Given the description of an element on the screen output the (x, y) to click on. 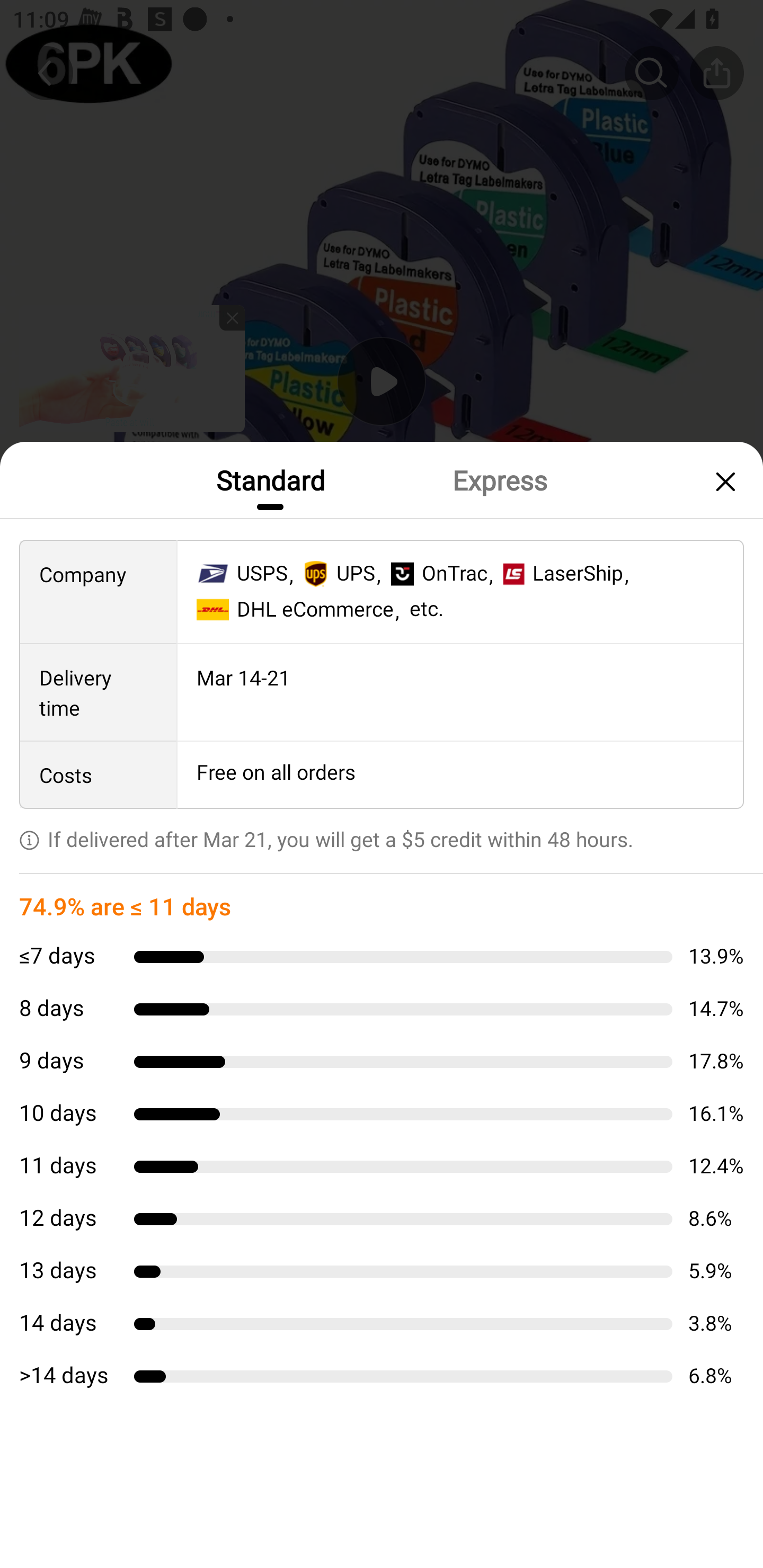
Standard (269, 479)
Express (499, 479)
close (723, 481)
Free shipping on all orders Exclusive offer (381, 836)
￼ ￼ ￼ 4 interest-free biweekly installments ￼ (381, 902)
